Given the description of an element on the screen output the (x, y) to click on. 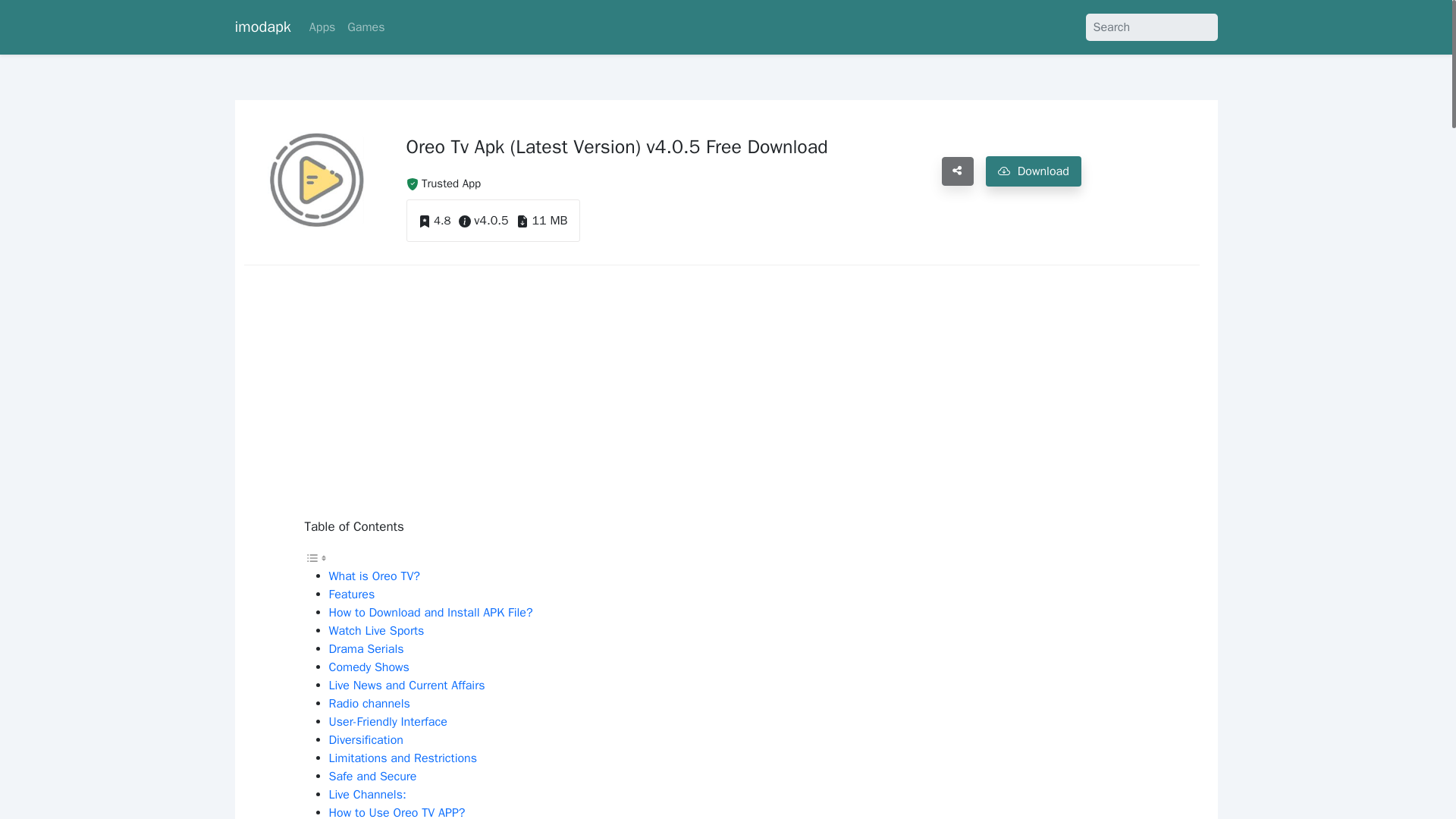
Watch Live Sports (377, 630)
Drama Serials (366, 648)
Limitations and Restrictions (403, 758)
Live News and Current Affairs (406, 685)
Live Channels: (367, 794)
imodapk (262, 27)
Games (365, 27)
Radio channels (369, 703)
Drama Serials (366, 648)
What is Oreo TV? (374, 575)
